Given the description of an element on the screen output the (x, y) to click on. 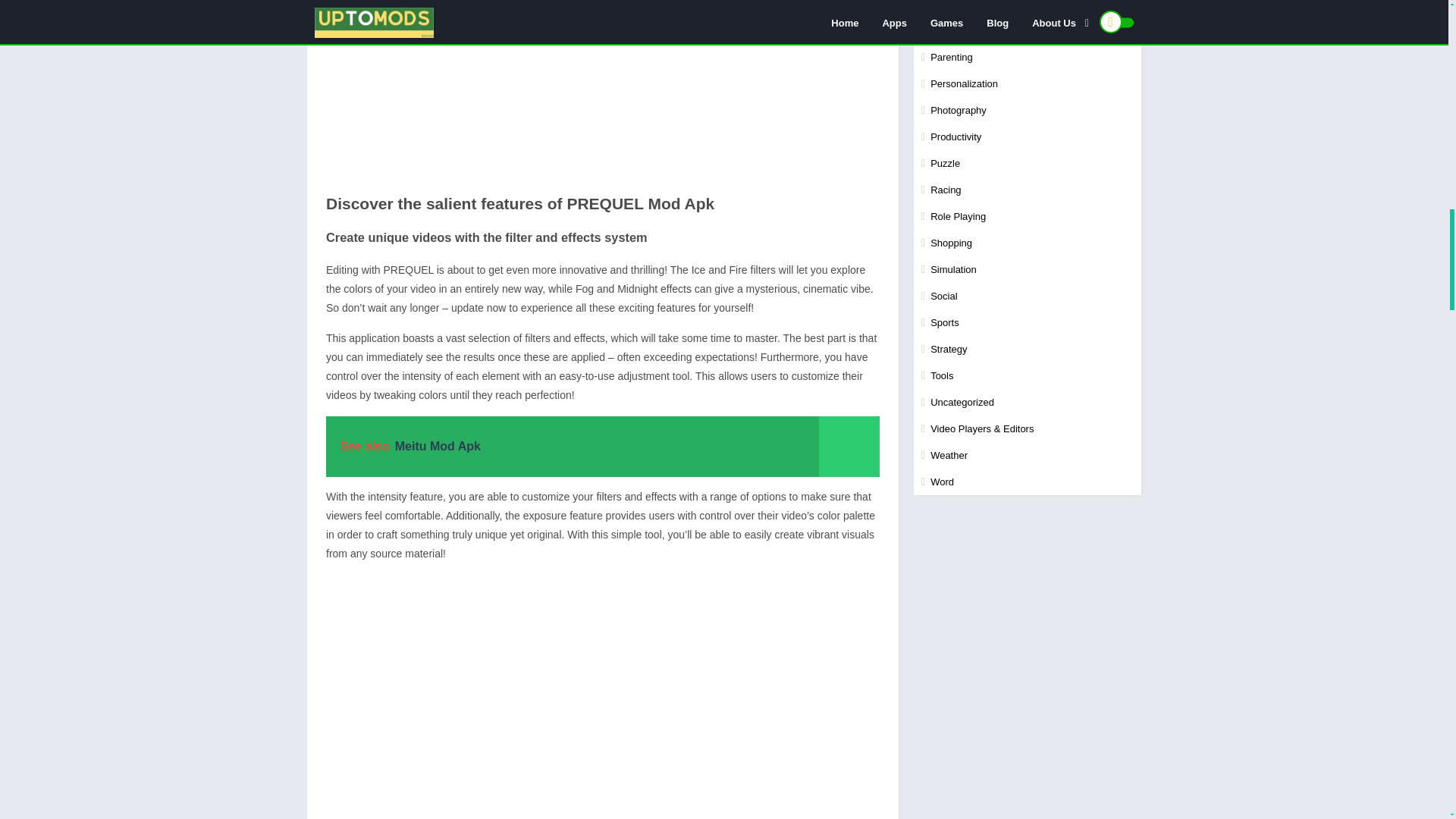
PREQUEL 2 (602, 89)
